Given the description of an element on the screen output the (x, y) to click on. 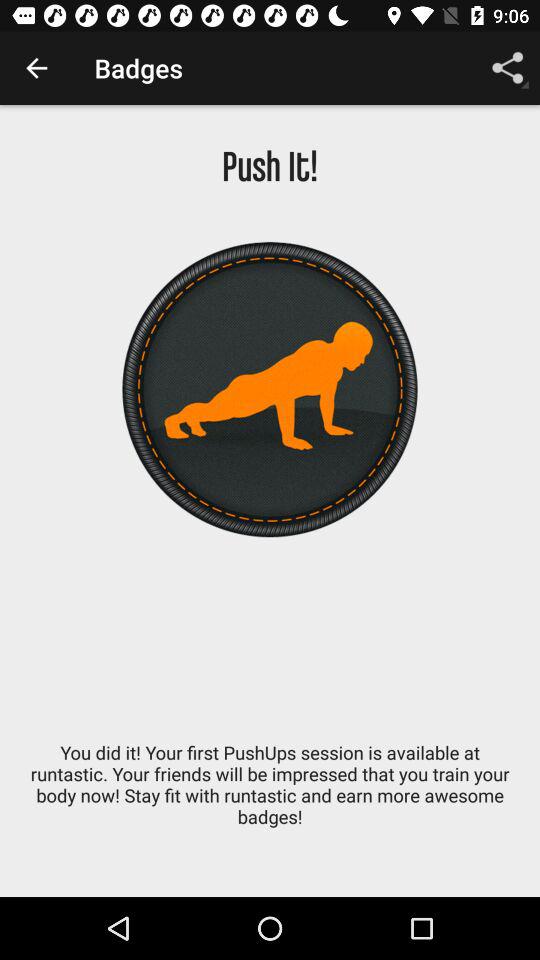
select item at the top right corner (508, 67)
